Given the description of an element on the screen output the (x, y) to click on. 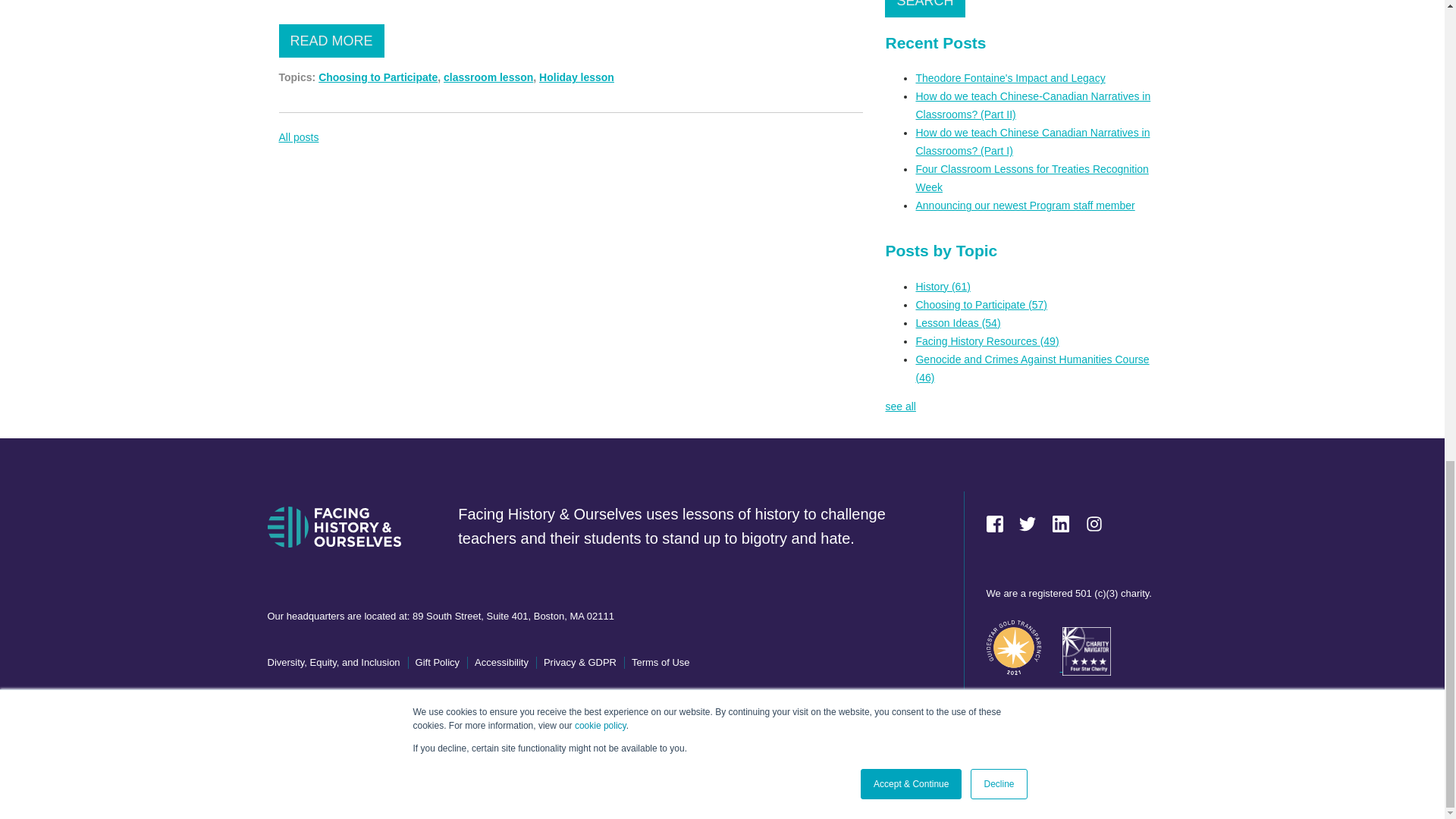
Choosing to Participate (378, 77)
All posts (298, 137)
Four Classroom Lessons for Treaties Recognition Week (1031, 177)
SEARCH (924, 8)
Announcing our newest Program staff member (1024, 205)
classroom lesson (488, 77)
READ MORE (331, 40)
Holiday lesson (576, 77)
Theodore Fontaine's Impact and Legacy (1010, 78)
